Given the description of an element on the screen output the (x, y) to click on. 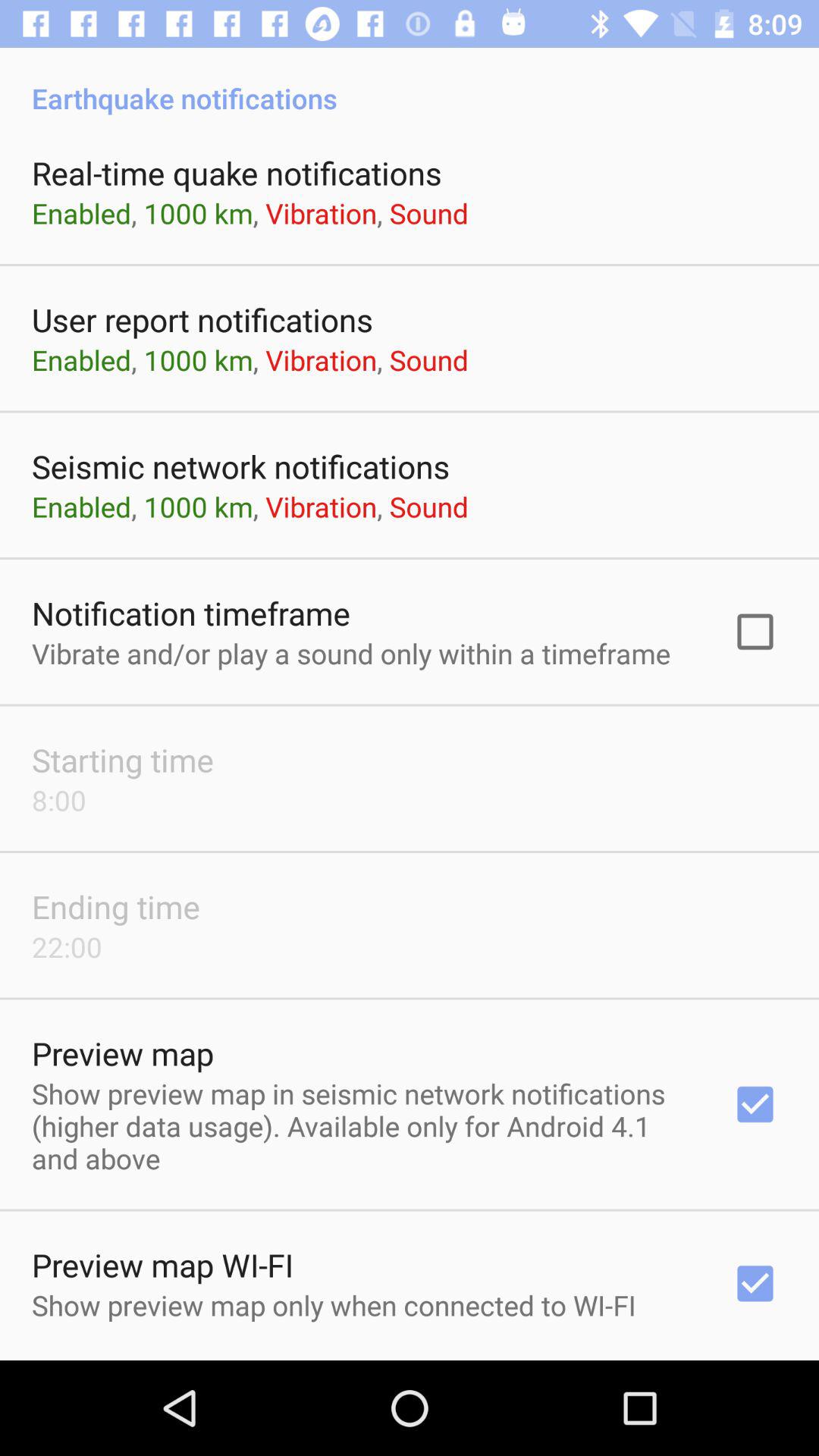
launch app above the 22:00 (115, 906)
